Given the description of an element on the screen output the (x, y) to click on. 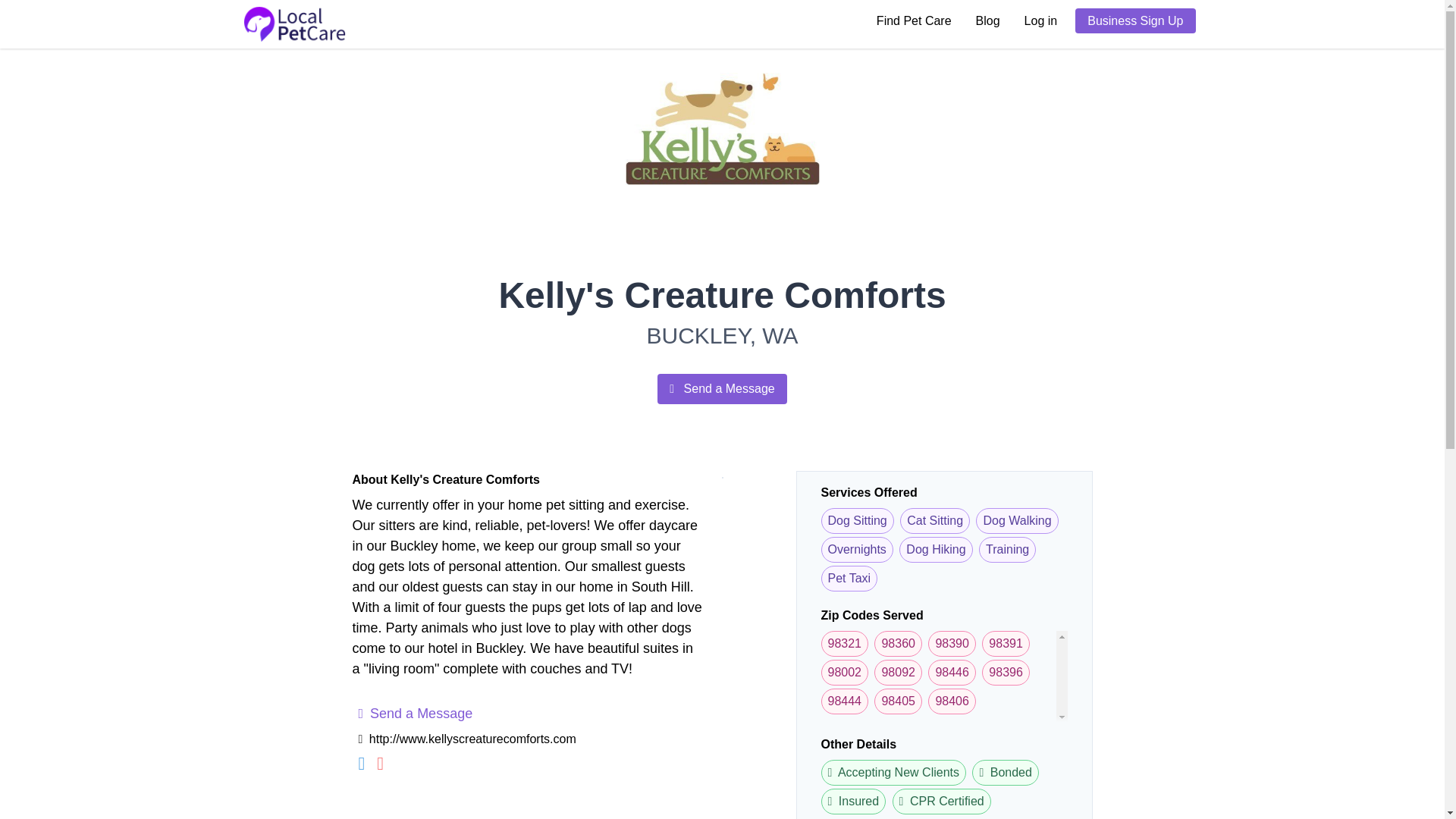
Blog (987, 20)
Business Sign Up (1135, 20)
Send a Message (722, 388)
Log in (1040, 20)
Send a Message (414, 713)
Find Pet Care (914, 20)
